Given the description of an element on the screen output the (x, y) to click on. 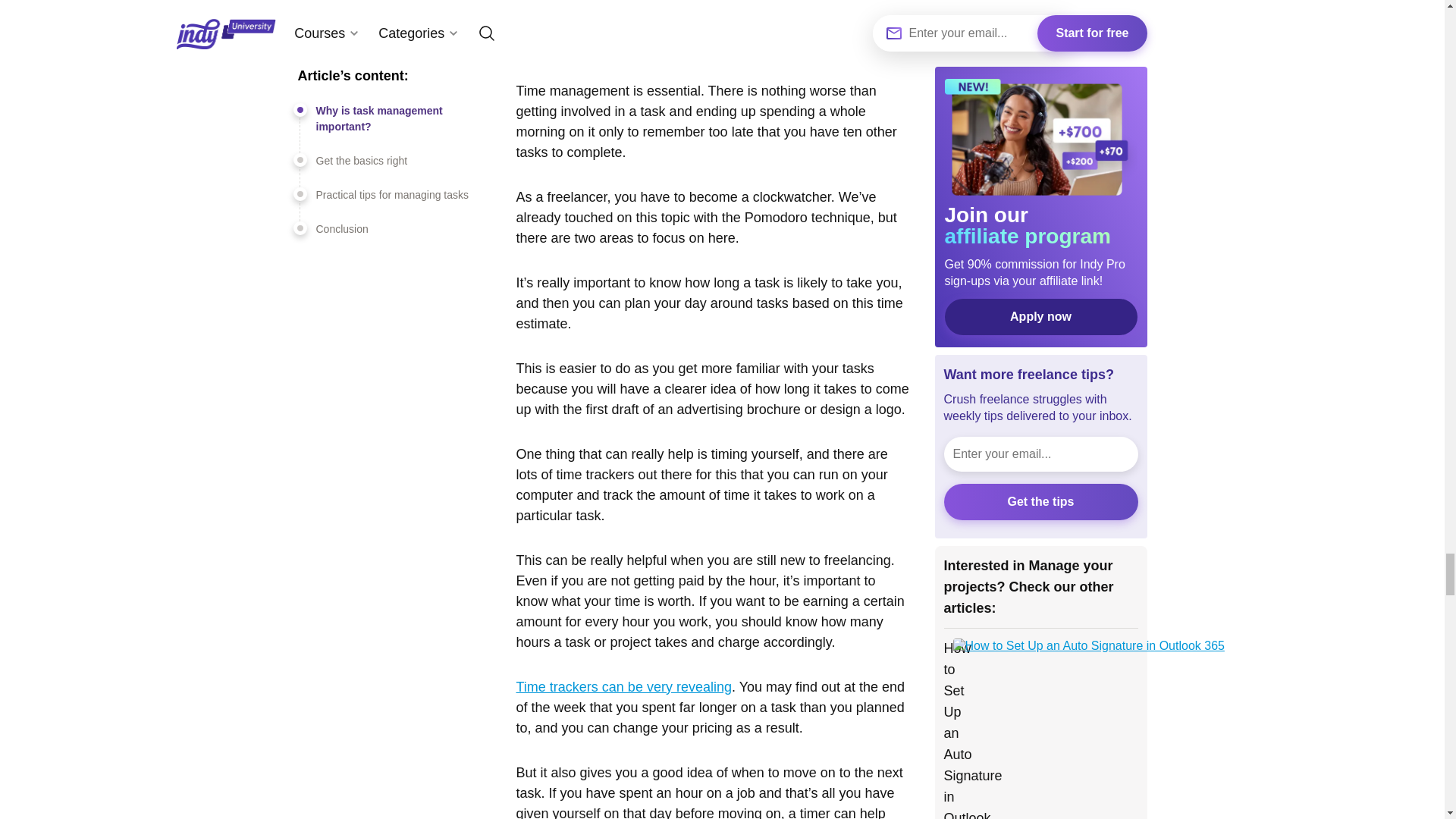
Time trackers can be very revealing (622, 686)
